Given the description of an element on the screen output the (x, y) to click on. 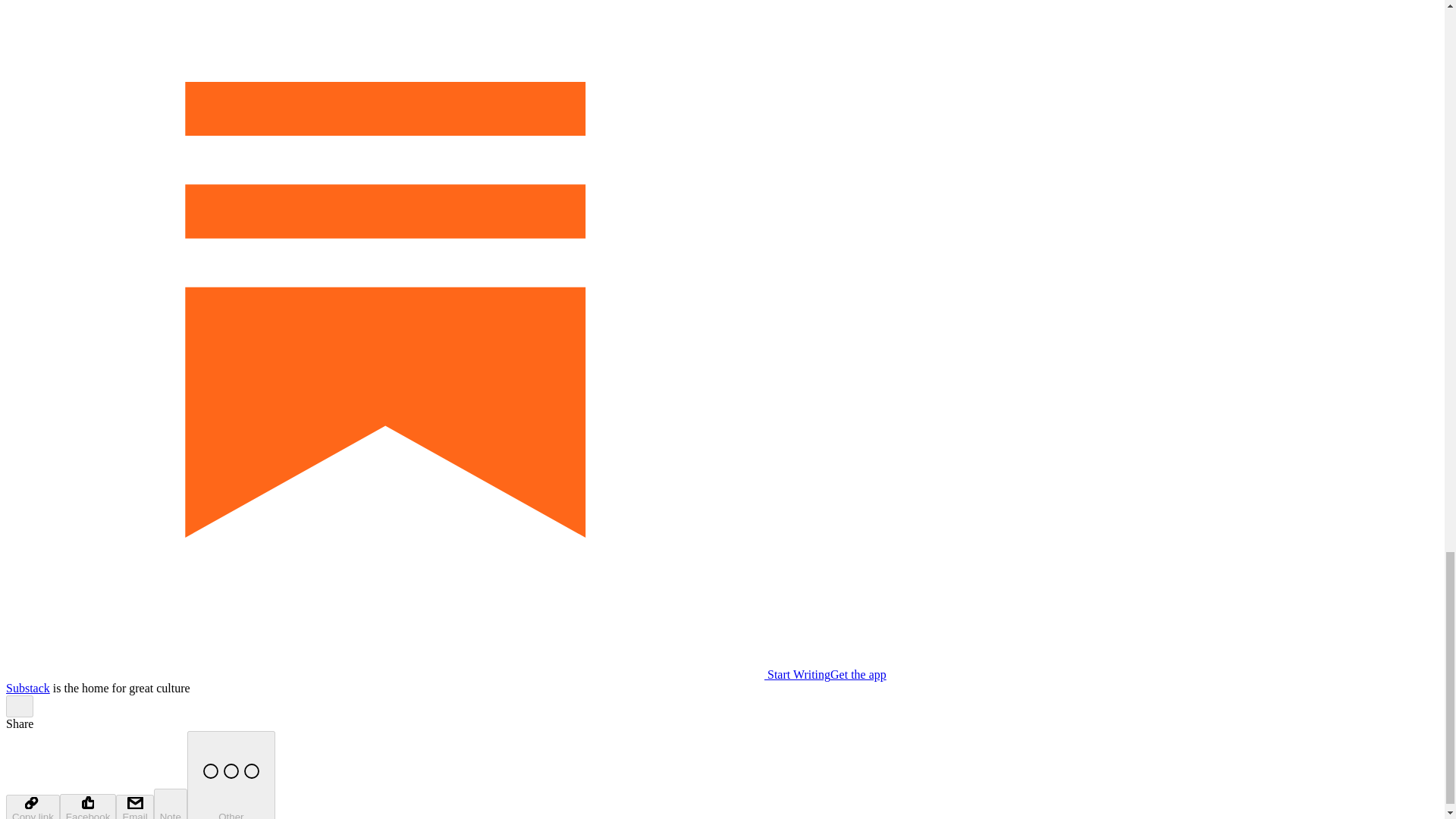
Get the app (857, 674)
Substack (27, 687)
Start Writing (417, 674)
